Given the description of an element on the screen output the (x, y) to click on. 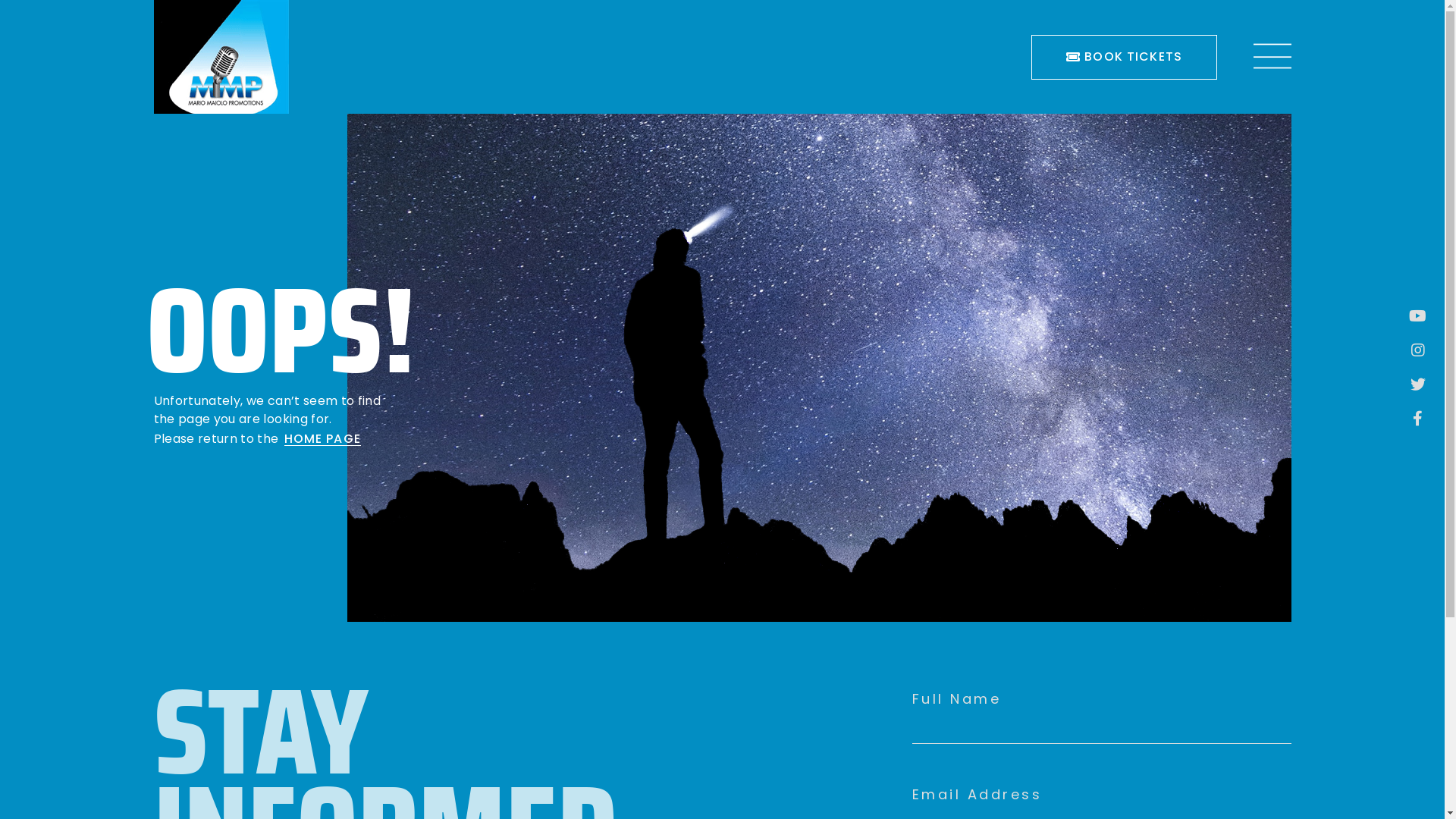
HOME PAGE Element type: text (321, 439)
BOOK TICKETS Element type: text (1124, 56)
